Given the description of an element on the screen output the (x, y) to click on. 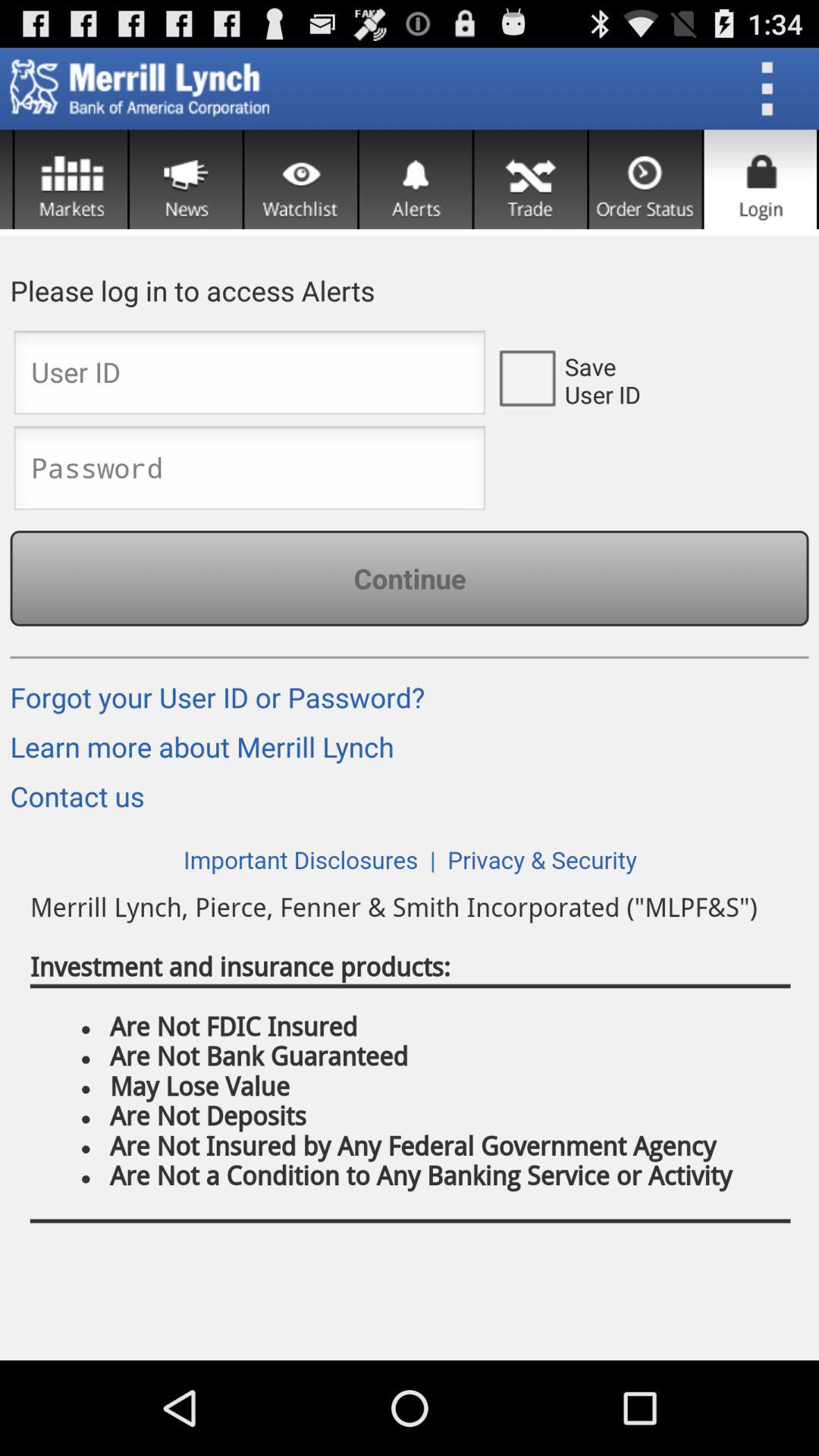
click the option (526, 376)
